Given the description of an element on the screen output the (x, y) to click on. 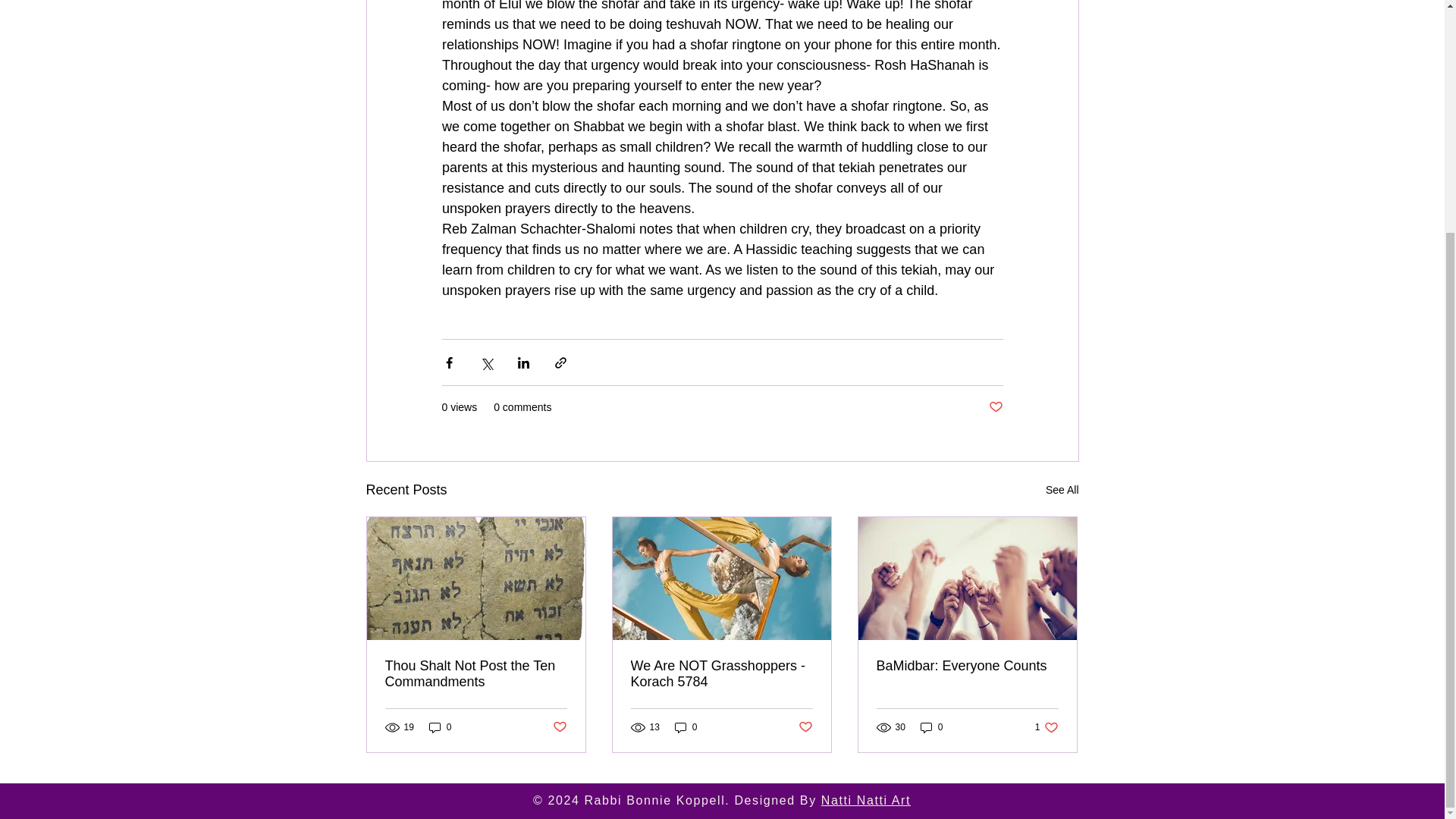
See All (1061, 490)
0 (440, 726)
Post not marked as liked (558, 727)
We Are NOT Grasshoppers - Korach 5784 (721, 674)
0 (685, 726)
Thou Shalt Not Post the Ten Commandments (476, 674)
BaMidbar: Everyone Counts (967, 666)
0 (931, 726)
Post not marked as liked (995, 407)
Post not marked as liked (804, 727)
